Given the description of an element on the screen output the (x, y) to click on. 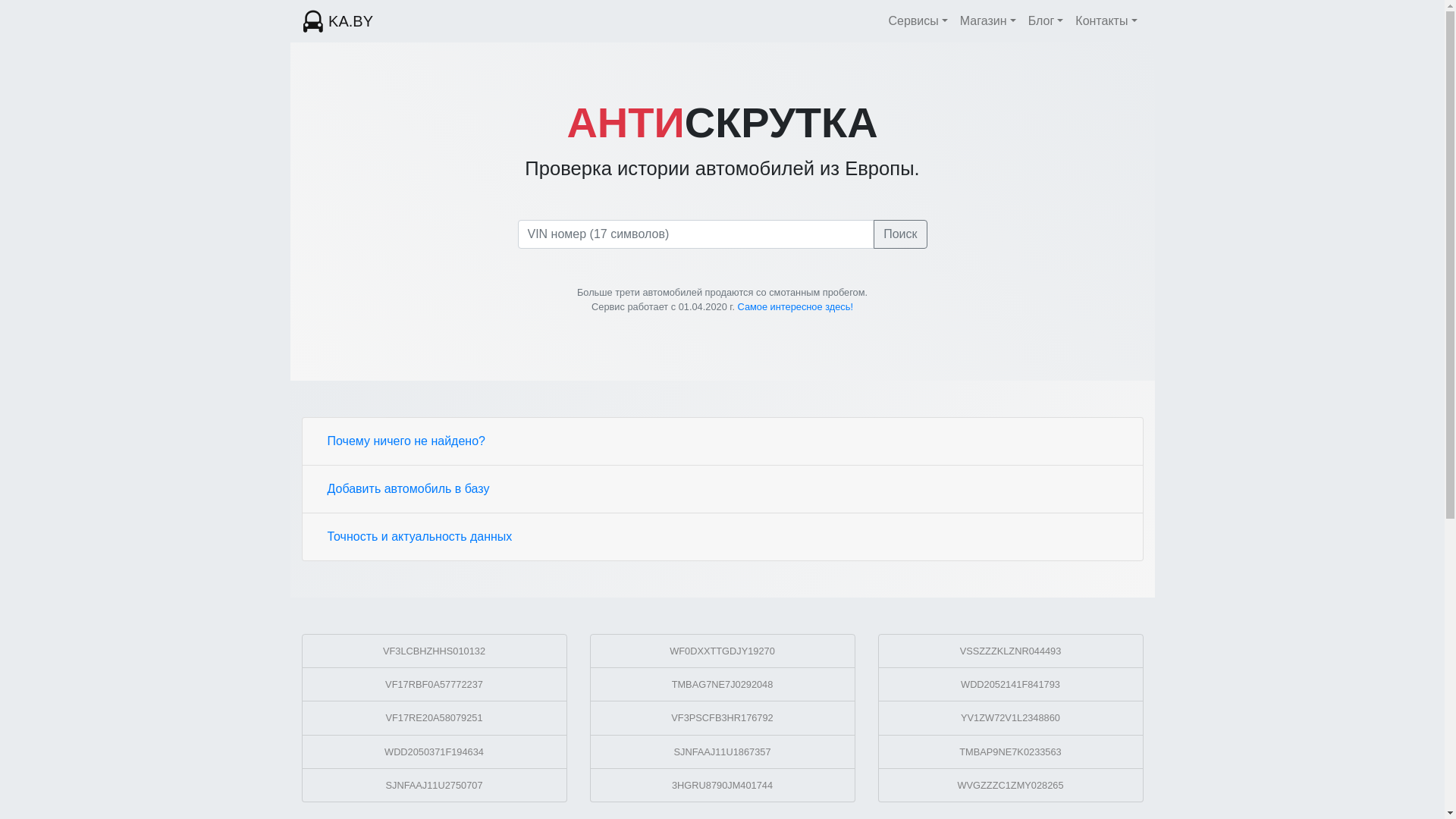
3HGRU8790JM401744 Element type: text (722, 785)
WDD2052141F841793 Element type: text (1010, 684)
VF3PSCFB3HR176792 Element type: text (722, 717)
WDD2050371F194634 Element type: text (434, 751)
TMBAP9NE7K0233563 Element type: text (1010, 751)
TMBAG7NE7J0292048 Element type: text (722, 684)
VF17RE20A58079251 Element type: text (434, 717)
VSSZZZKLZNR044493 Element type: text (1010, 650)
SJNFAAJ11U2750707 Element type: text (434, 785)
WVGZZZC1ZMY028265 Element type: text (1010, 785)
KA.BY Element type: text (337, 21)
WF0DXXTTGDJY19270 Element type: text (722, 650)
YV1ZW72V1L2348860 Element type: text (1010, 717)
VF17RBF0A57772237 Element type: text (434, 684)
SJNFAAJ11U1867357 Element type: text (722, 751)
VF3LCBHZHHS010132 Element type: text (434, 650)
